Given the description of an element on the screen output the (x, y) to click on. 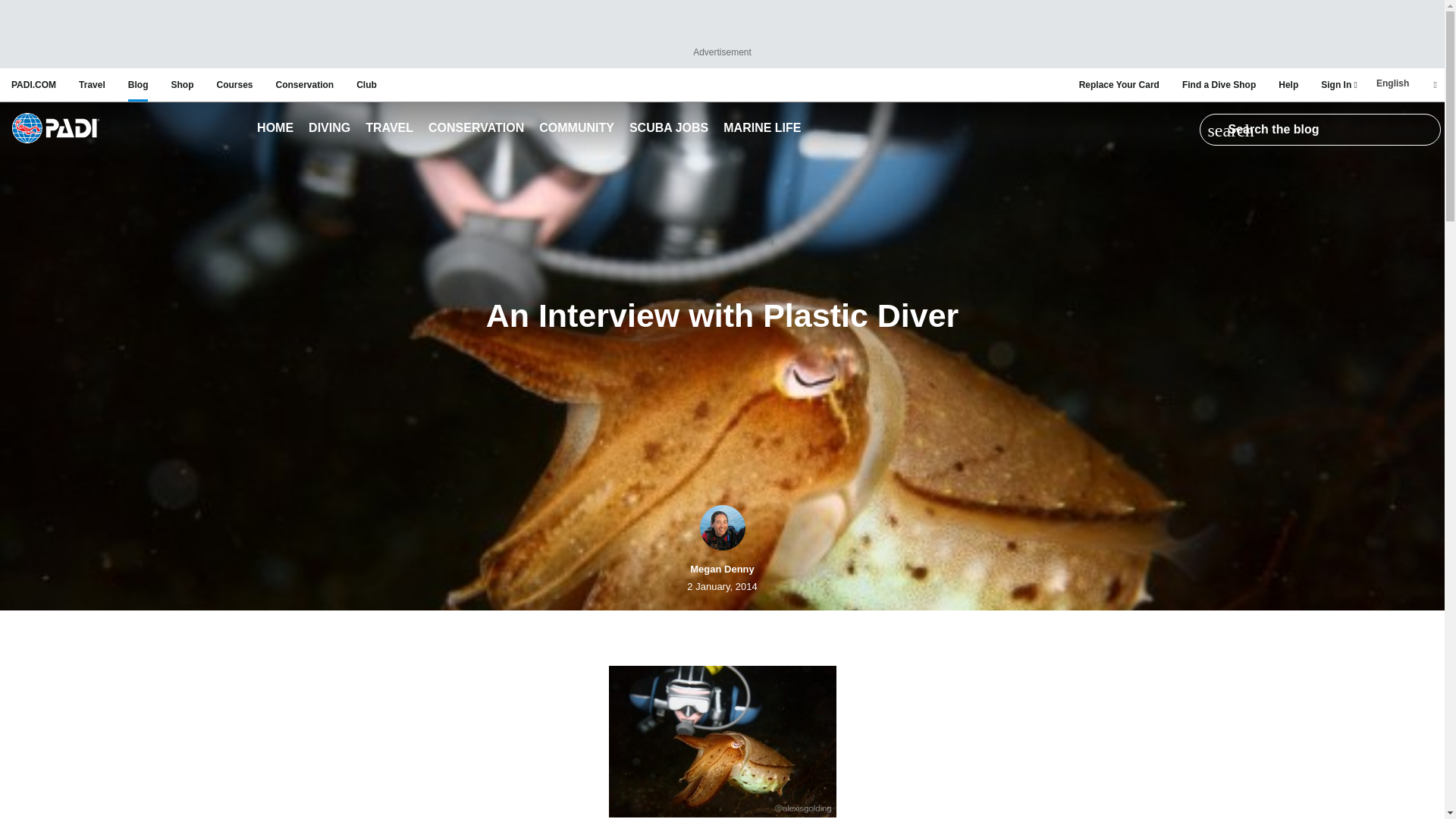
Plastic Diver and Cuttlefish (721, 741)
CONSERVATION (475, 128)
Courses (233, 84)
Sign In (1338, 84)
MARINE LIFE (762, 128)
PADI.COM (33, 84)
Marine Life (762, 128)
SCUBA JOBS (668, 128)
Scuba Jobs (668, 128)
Travel (389, 128)
Community (576, 128)
DIVING (329, 128)
Conservation (305, 84)
Home (275, 128)
Conservation (475, 128)
